Given the description of an element on the screen output the (x, y) to click on. 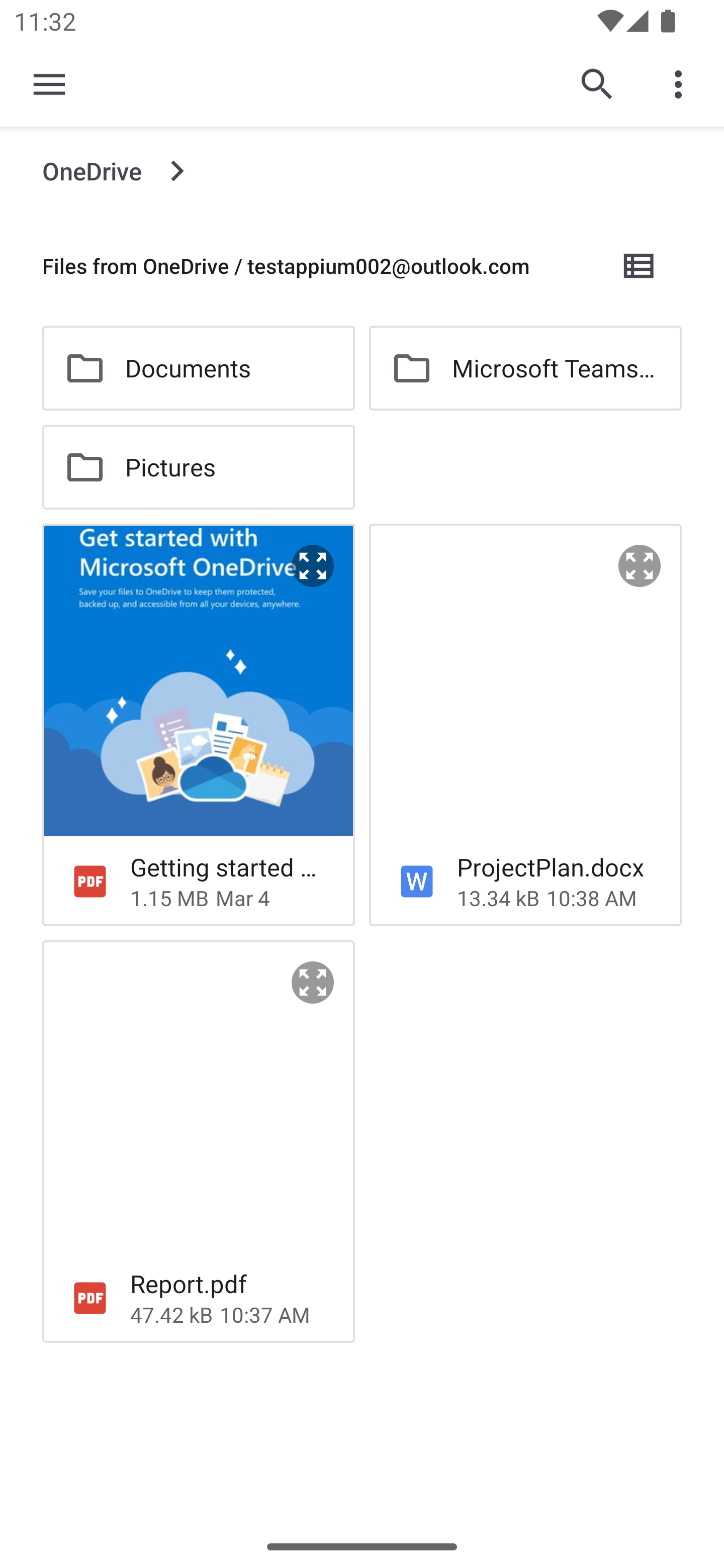
Show roots (49, 84)
Search (597, 84)
More options (681, 84)
List view (639, 265)
Documents (197, 368)
Microsoft Teams Chat Files (525, 368)
Pictures (197, 466)
Preview the file Getting started with OneDrive.pdf (312, 565)
Preview the file ProjectPlan.docx (639, 565)
Preview the file Report.pdf (312, 982)
